Given the description of an element on the screen output the (x, y) to click on. 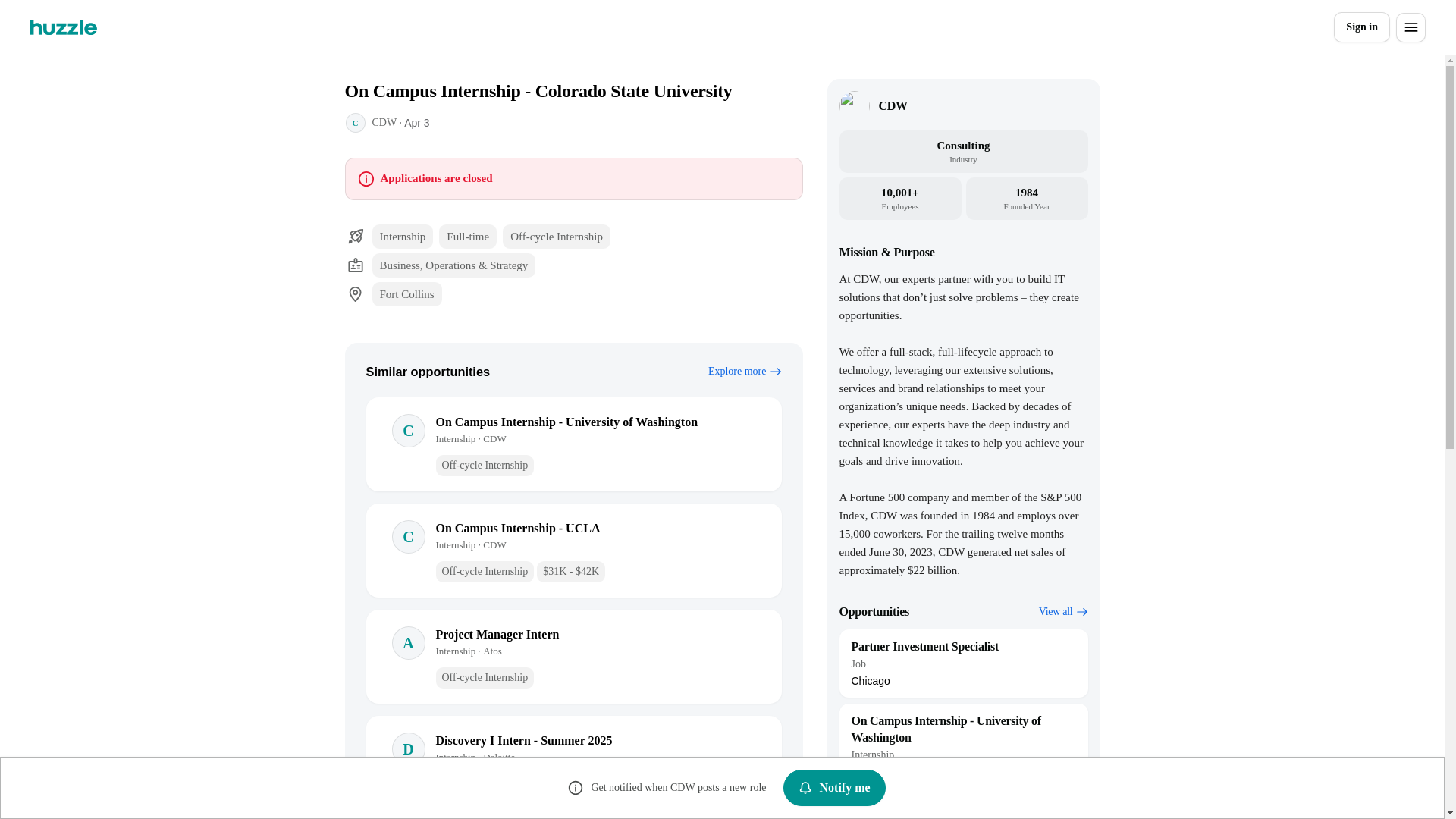
Explore more (962, 663)
View all (744, 371)
C (1063, 611)
C (408, 536)
Notify me (408, 430)
D (834, 787)
Sign in (408, 749)
A (1361, 27)
CDW (408, 642)
C (892, 105)
CDW (354, 122)
